Given the description of an element on the screen output the (x, y) to click on. 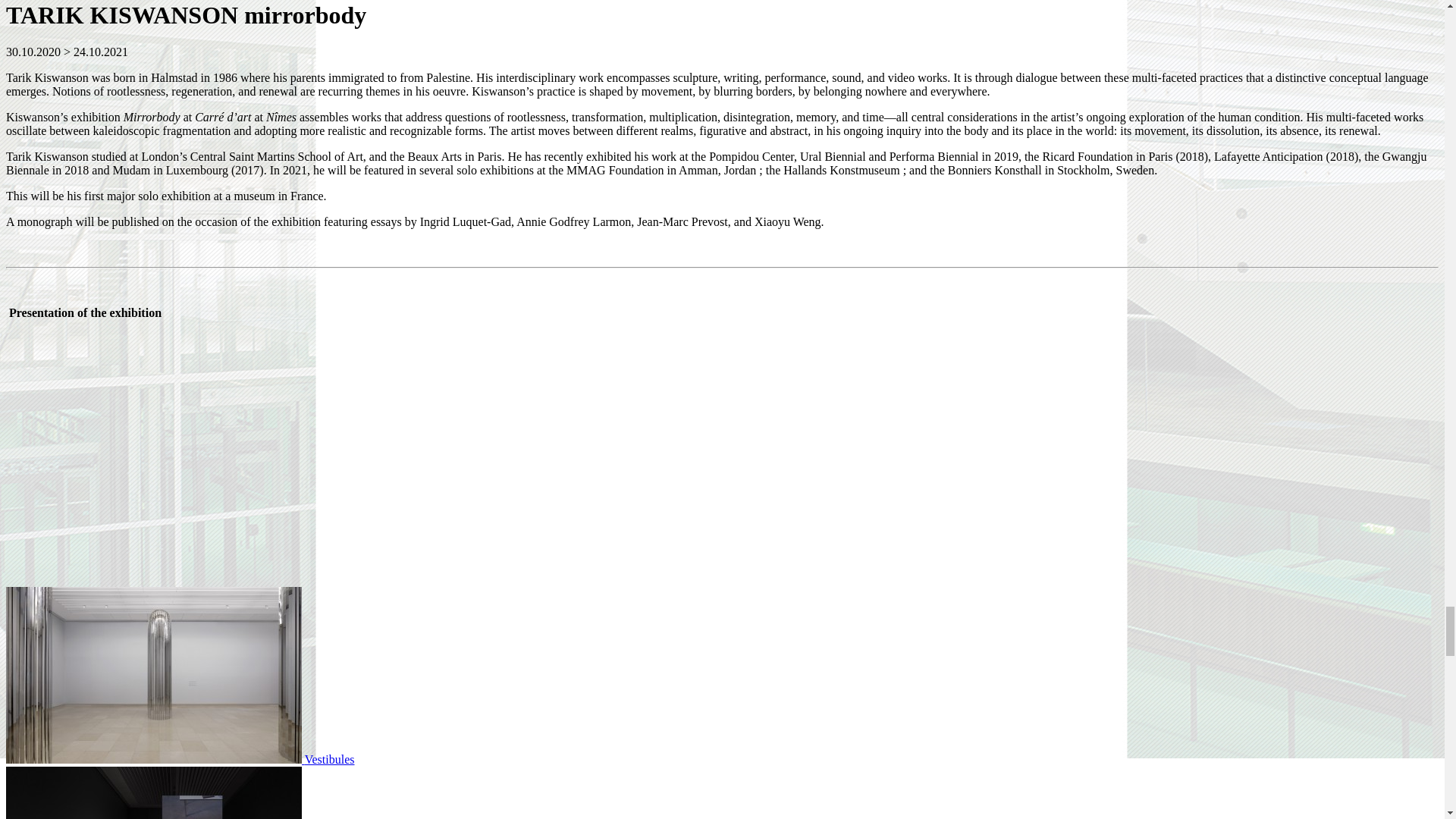
YouTube video player (172, 451)
Photo Vinciane Lebrun (180, 758)
